Given the description of an element on the screen output the (x, y) to click on. 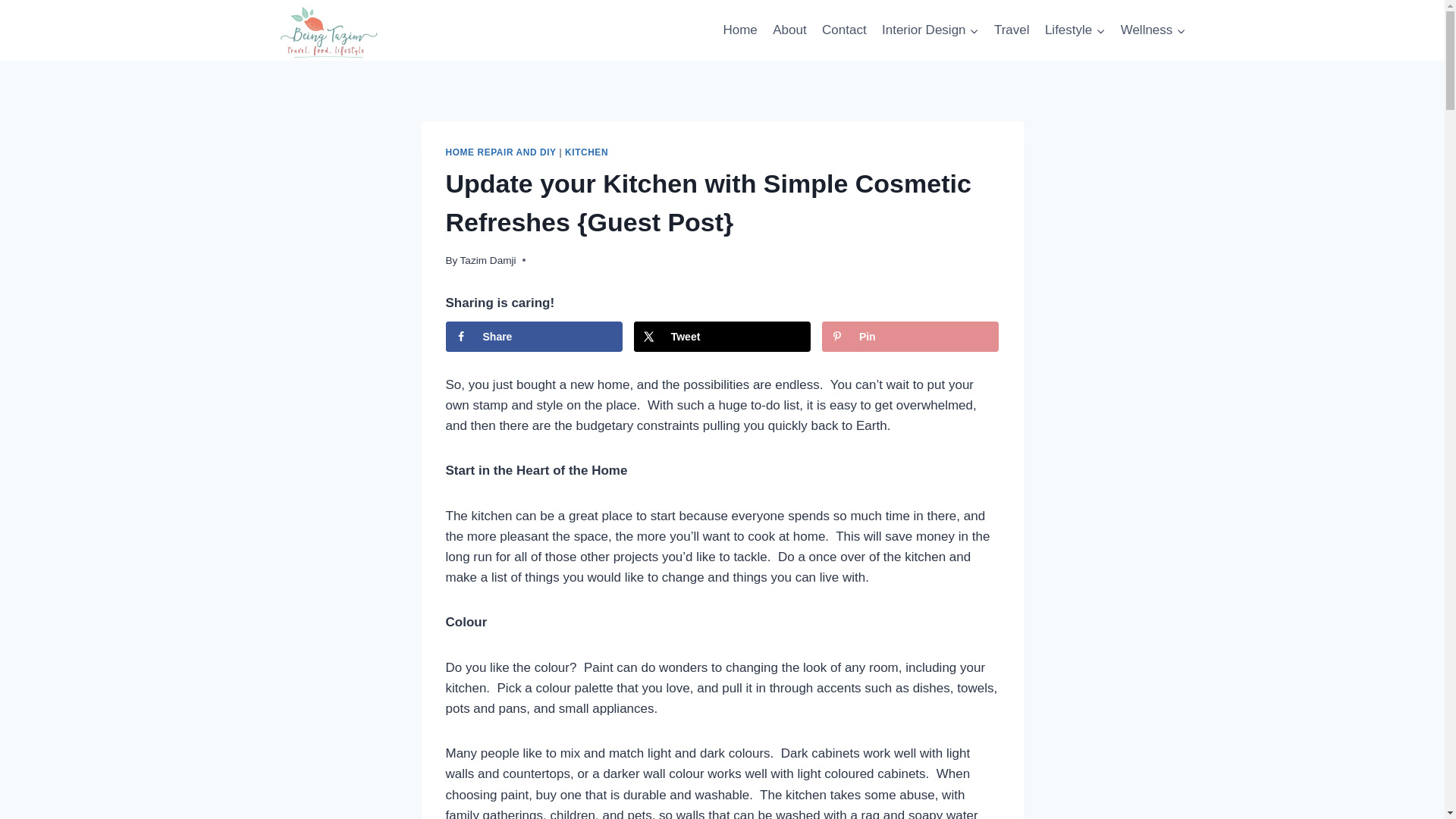
Save to Pinterest (910, 336)
Travel (1011, 30)
Interior Design (931, 30)
Tazim Damji (488, 260)
Contact (844, 30)
Pin (910, 336)
About (789, 30)
Home (739, 30)
Lifestyle (1074, 30)
Wellness (1152, 30)
